Given the description of an element on the screen output the (x, y) to click on. 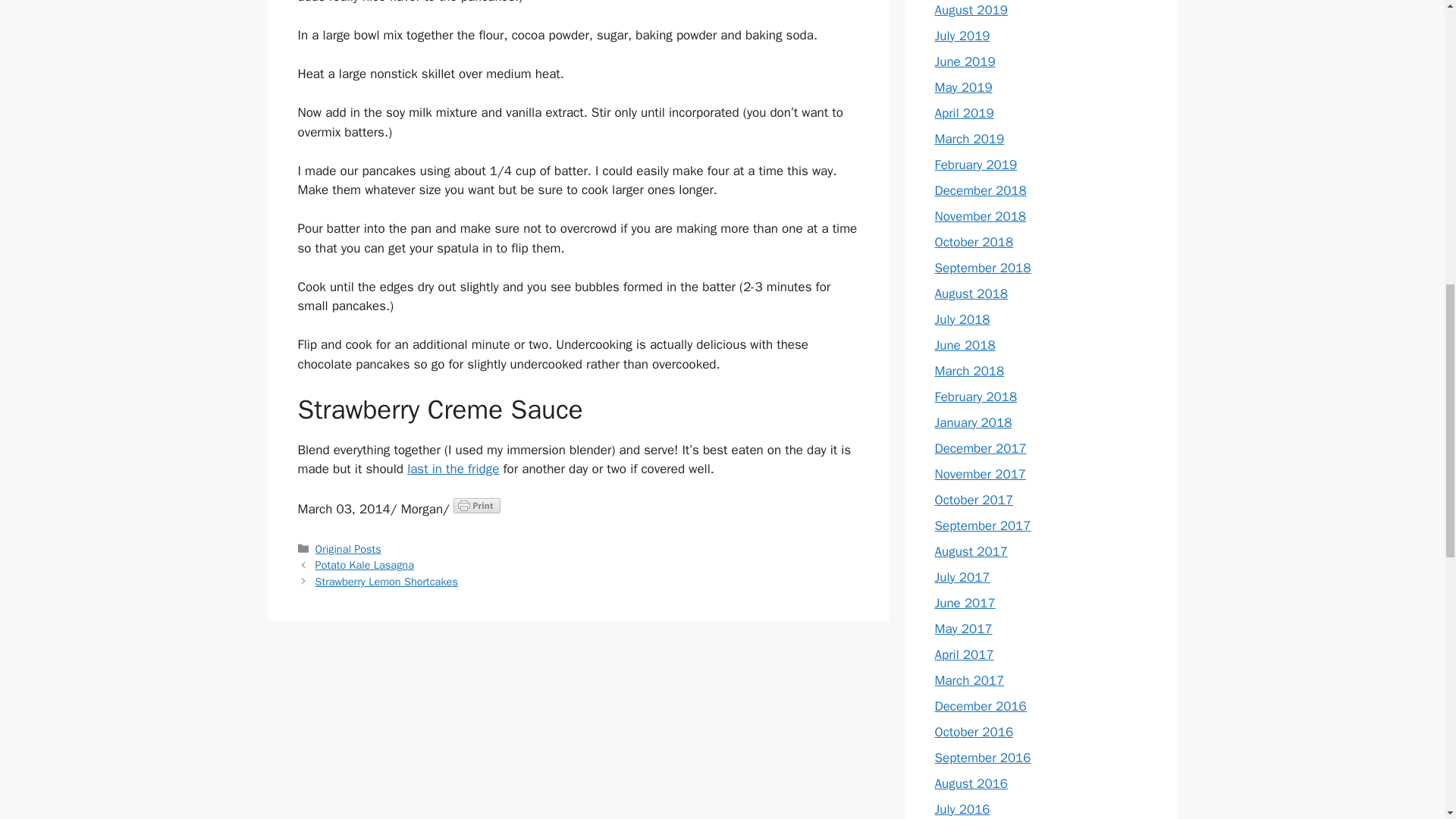
March 2019 (969, 139)
August 2018 (970, 293)
Strawberry Lemon Shortcakes (386, 581)
October 2017 (973, 499)
July 2018 (962, 319)
April 2019 (963, 113)
October 2018 (973, 242)
November 2018 (980, 216)
December 2017 (980, 448)
May 2019 (962, 87)
